Given the description of an element on the screen output the (x, y) to click on. 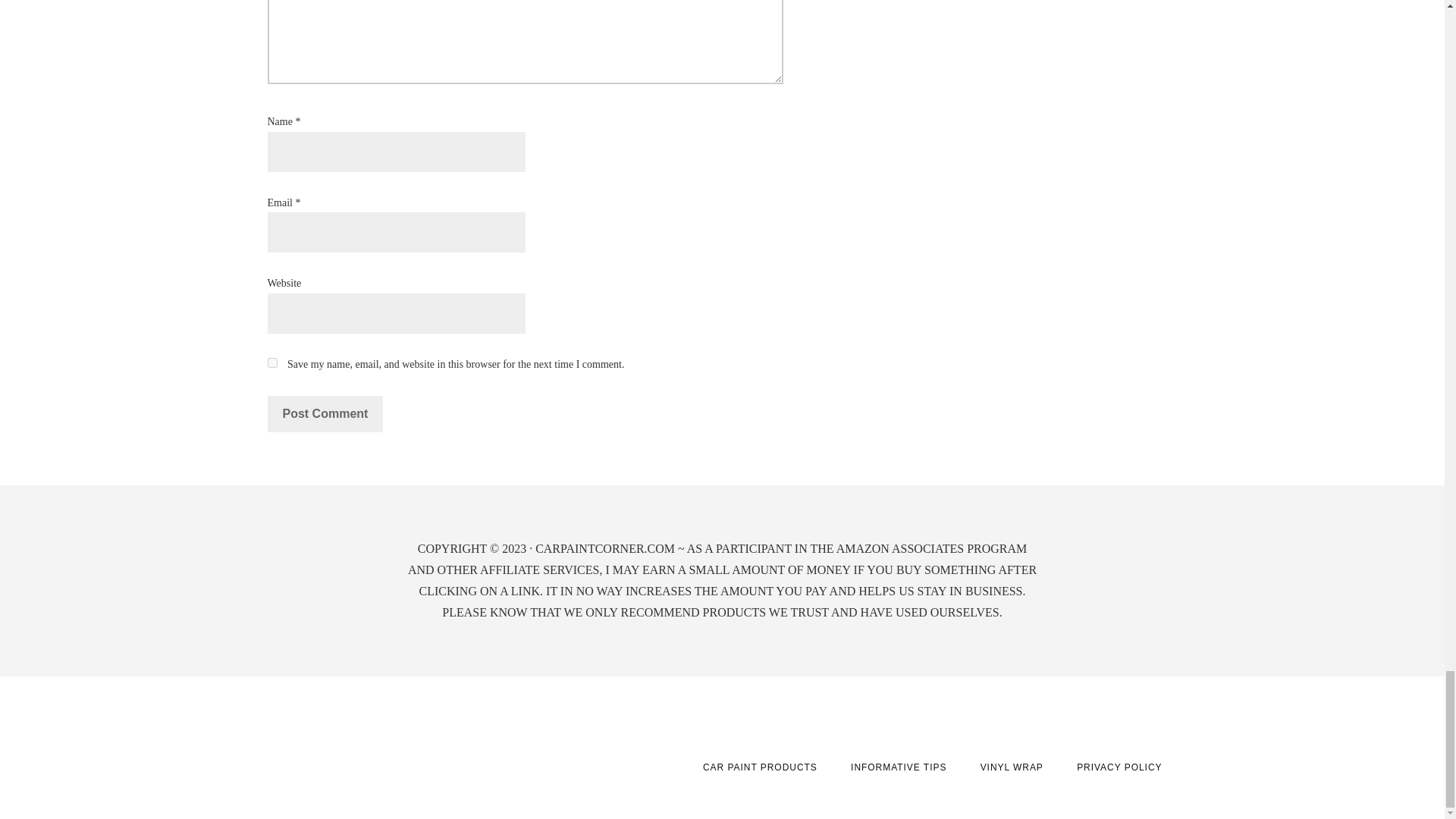
Post Comment (324, 413)
yes (271, 362)
INFORMATIVE TIPS (897, 767)
VINYL WRAP (1011, 767)
PRIVACY POLICY (1118, 767)
CAR PAINT PRODUCTS (759, 767)
Post Comment (324, 413)
